Given the description of an element on the screen output the (x, y) to click on. 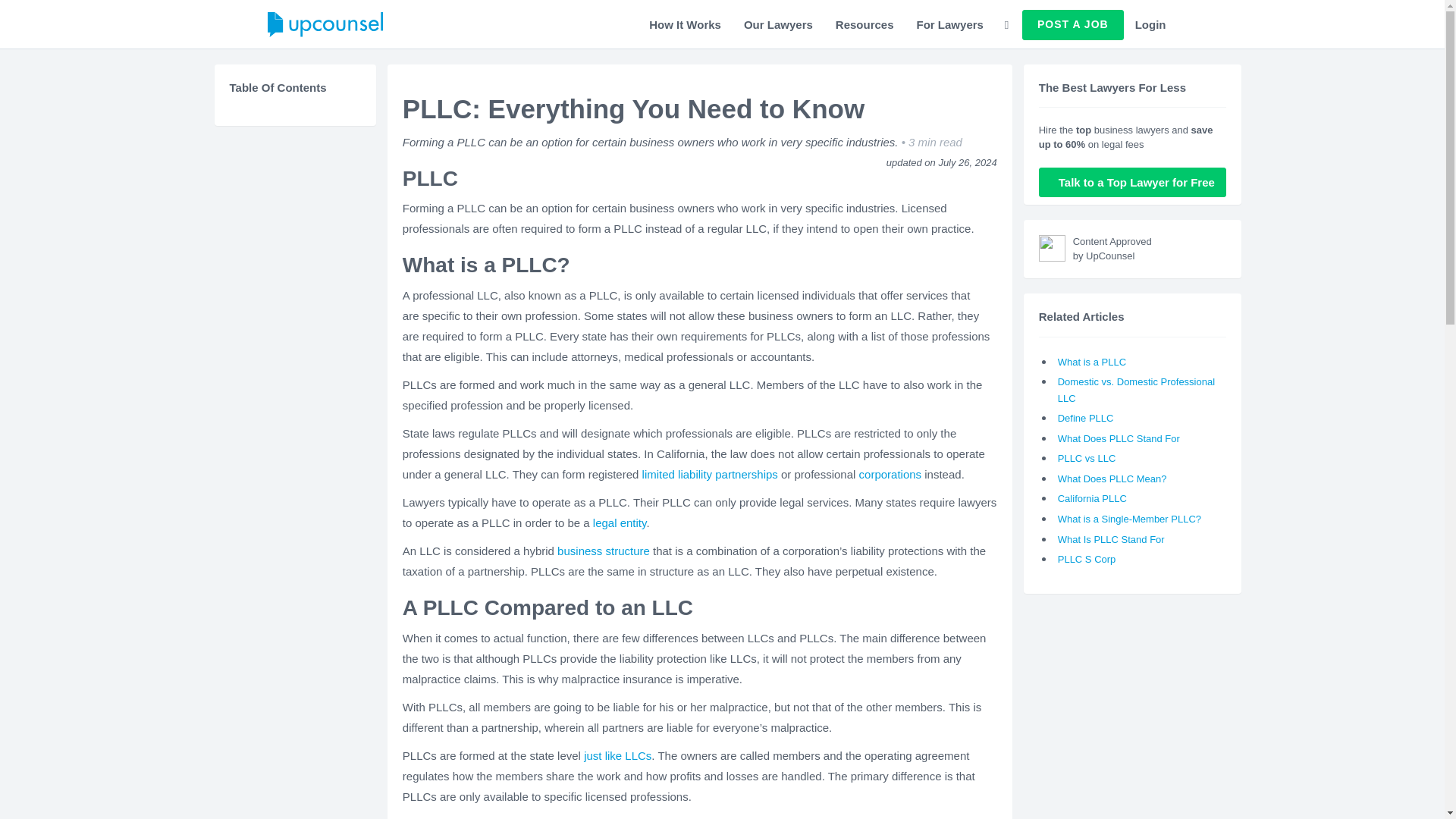
limited liability (677, 473)
legal entity (619, 522)
How It Works (684, 24)
business structure (603, 550)
Our Lawyers (778, 24)
Resources (864, 24)
Login (1150, 24)
just like LLCs (616, 755)
For Lawyers (949, 24)
corporations (890, 473)
partnerships (745, 473)
